Given the description of an element on the screen output the (x, y) to click on. 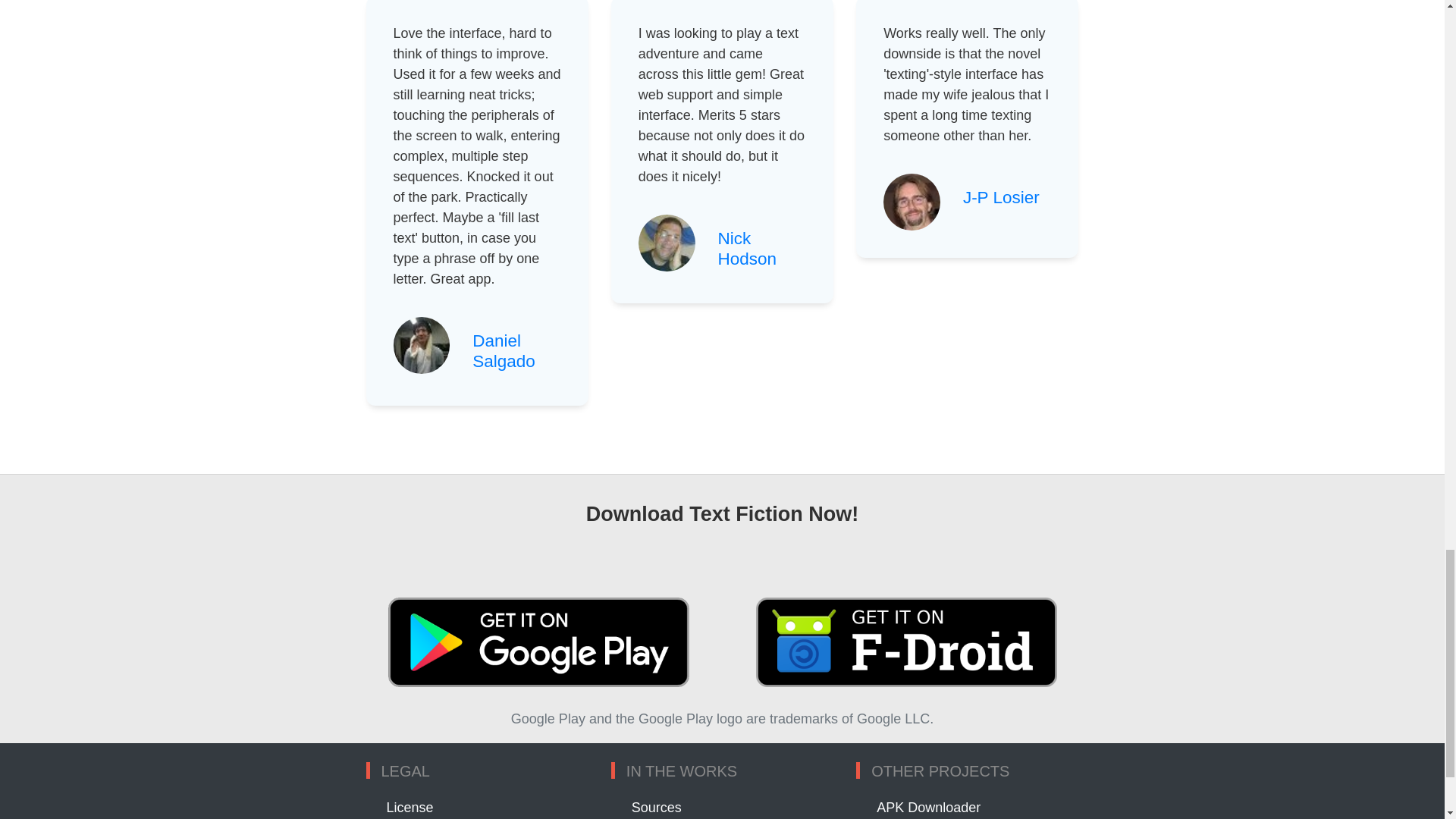
License (410, 807)
Profile Picture (421, 344)
Get it on Google Play (537, 641)
Profile Picture (667, 242)
Get it on F-Droid (905, 641)
License (410, 807)
Nick Hodson (747, 248)
Source code available on Github (656, 807)
Reference (1000, 197)
Profile Picture (911, 201)
